Given the description of an element on the screen output the (x, y) to click on. 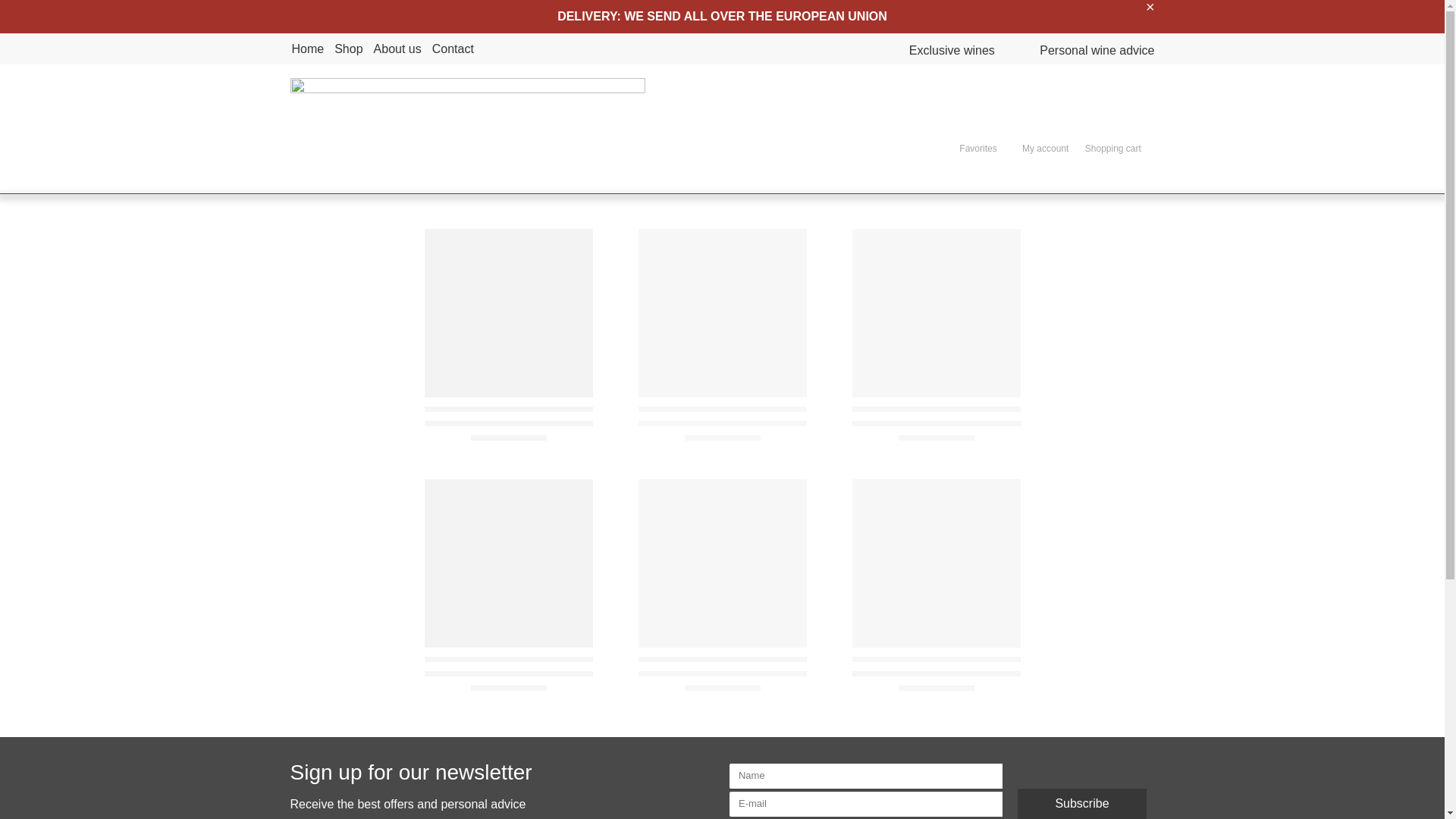
About us (397, 48)
Shop (348, 48)
Home (306, 48)
Contact (453, 48)
Subscribe (1082, 803)
